Given the description of an element on the screen output the (x, y) to click on. 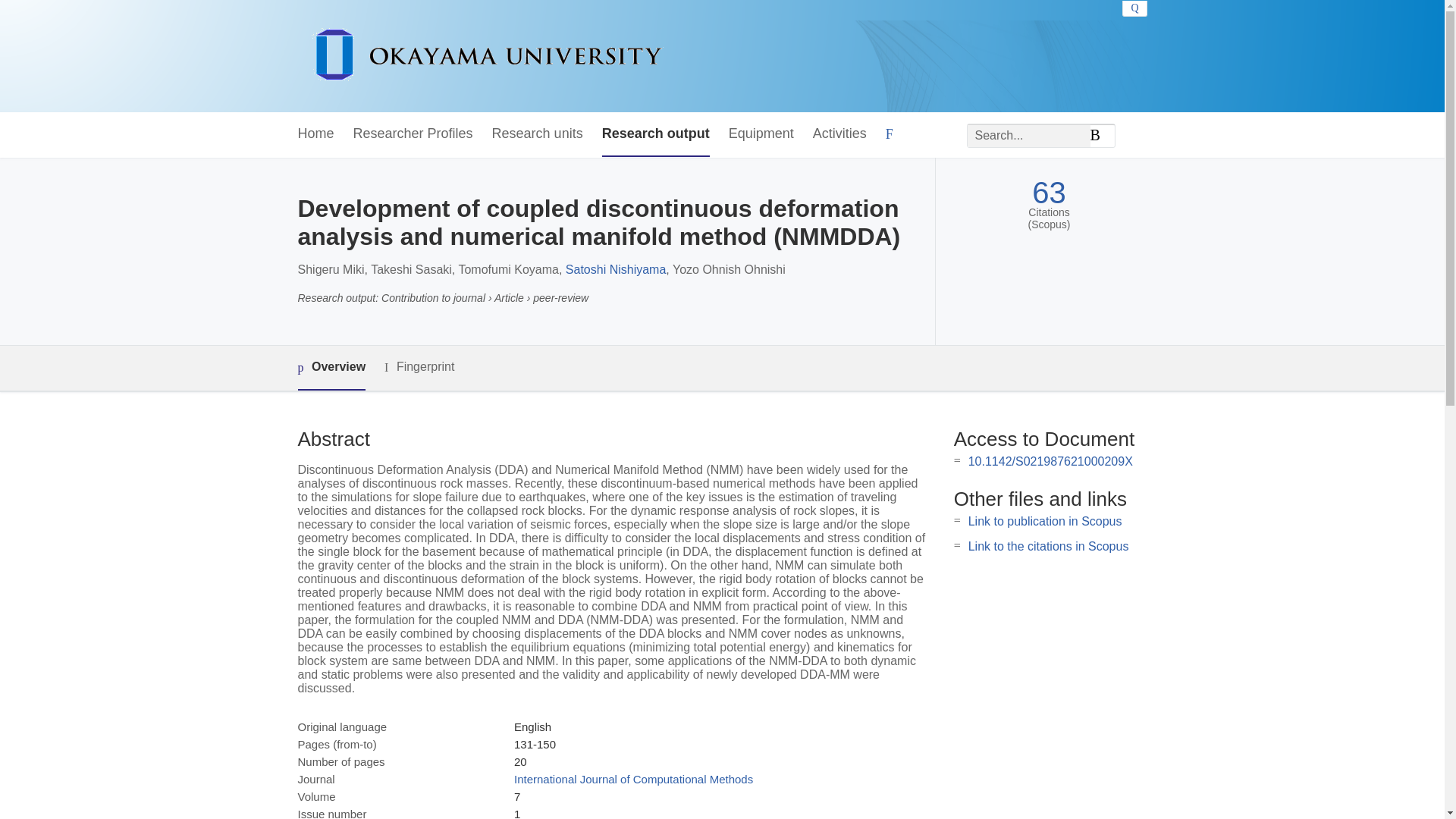
Link to publication in Scopus (1045, 521)
Activities (839, 134)
Research units (537, 134)
International Journal of Computational Methods (632, 779)
Research output (656, 134)
Equipment (761, 134)
Fingerprint (419, 367)
Overview (331, 367)
Link to the citations in Scopus (1048, 545)
